Given the description of an element on the screen output the (x, y) to click on. 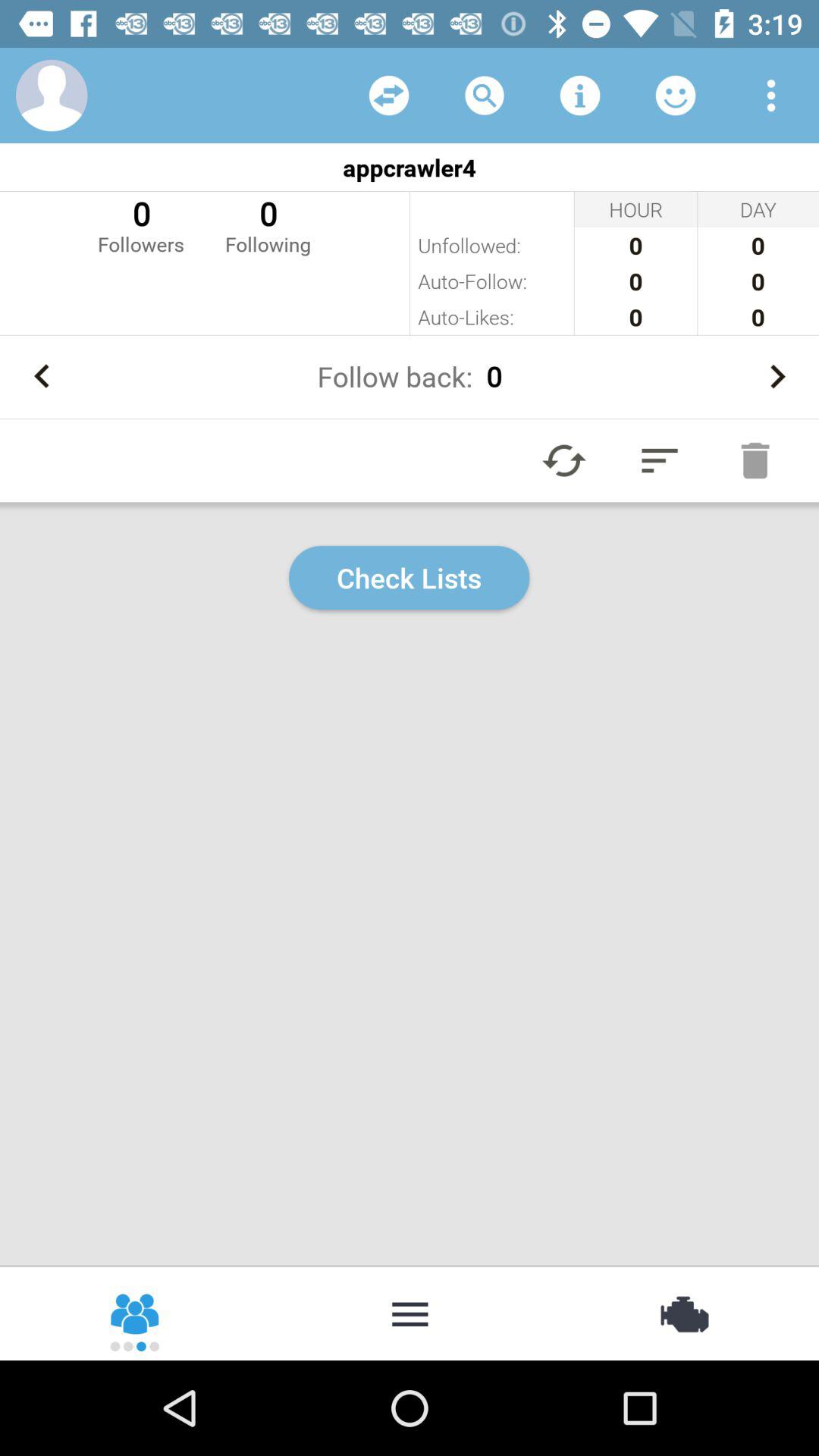
go to previous (41, 376)
